Given the description of an element on the screen output the (x, y) to click on. 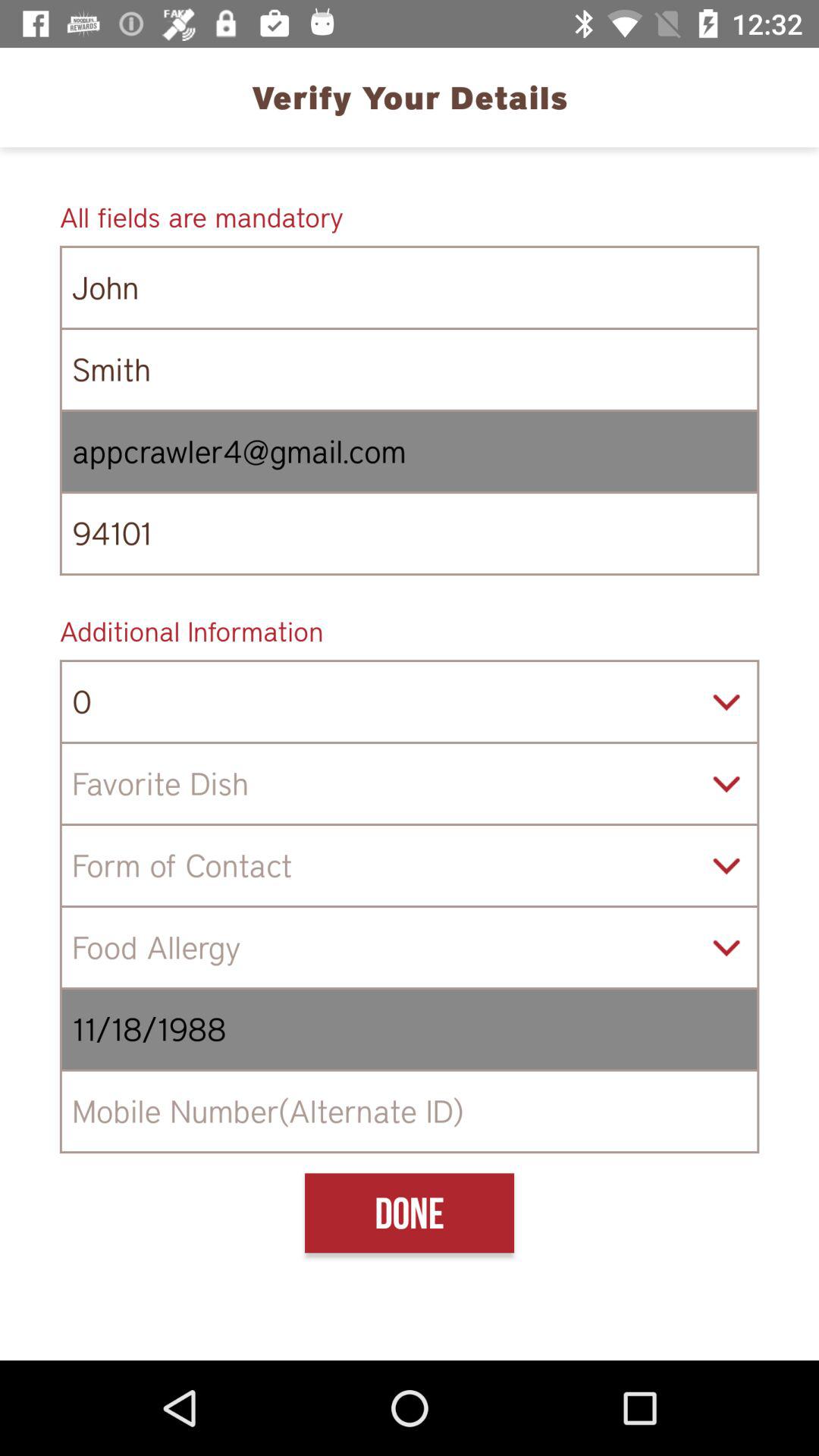
jump until john item (409, 287)
